Given the description of an element on the screen output the (x, y) to click on. 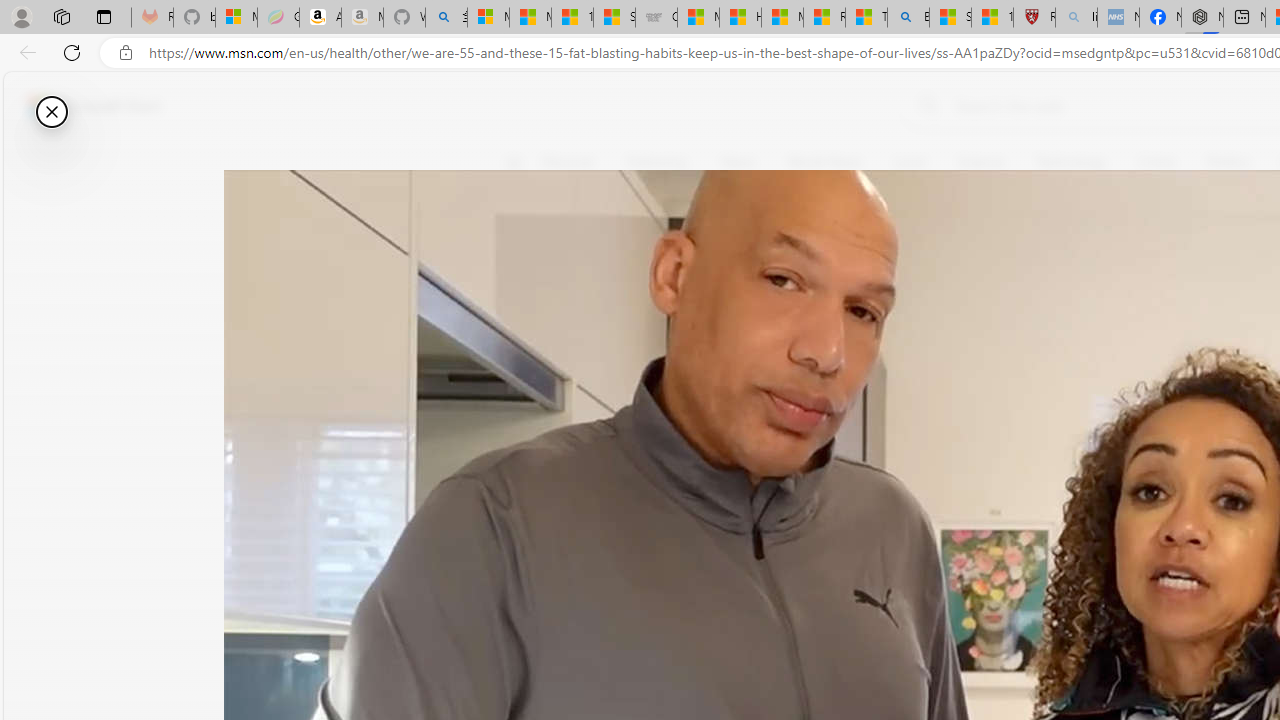
Science (980, 162)
6 (525, 300)
Science (980, 162)
Web search (924, 105)
